Given the description of an element on the screen output the (x, y) to click on. 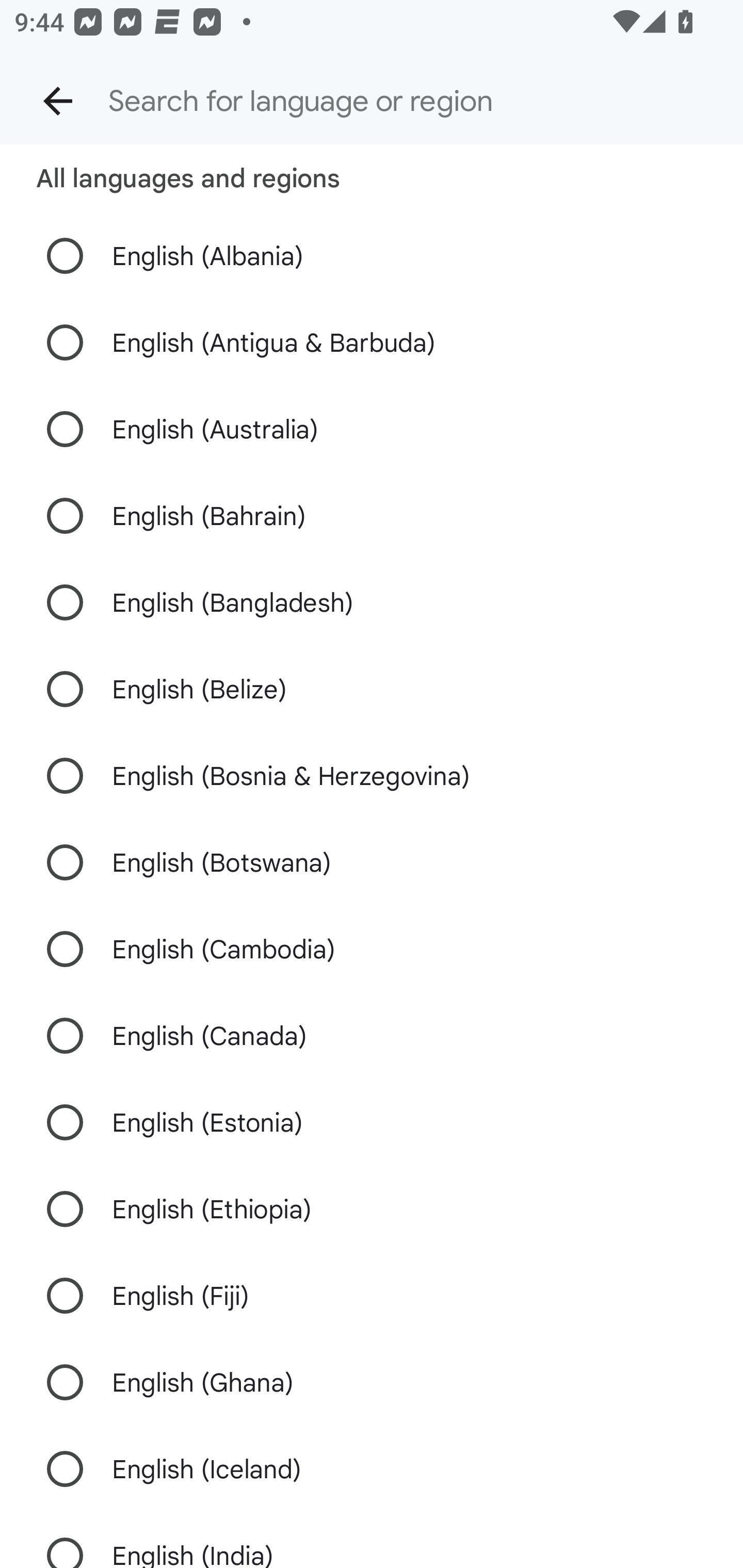
Navigate up (57, 100)
Search for language or region (407, 100)
English (Albania) (371, 256)
English (Antigua & Barbuda) (371, 342)
English (Australia) (371, 428)
English (Bahrain) (371, 515)
English (Bangladesh) (371, 602)
English (Belize) (371, 689)
English (Bosnia & Herzegovina) (371, 775)
English (Botswana) (371, 862)
English (Cambodia) (371, 949)
English (Canada) (371, 1035)
English (Estonia) (371, 1121)
English (Ethiopia) (371, 1208)
English (Fiji) (371, 1295)
English (Ghana) (371, 1382)
English (Iceland) (371, 1468)
English (India) (371, 1539)
